Given the description of an element on the screen output the (x, y) to click on. 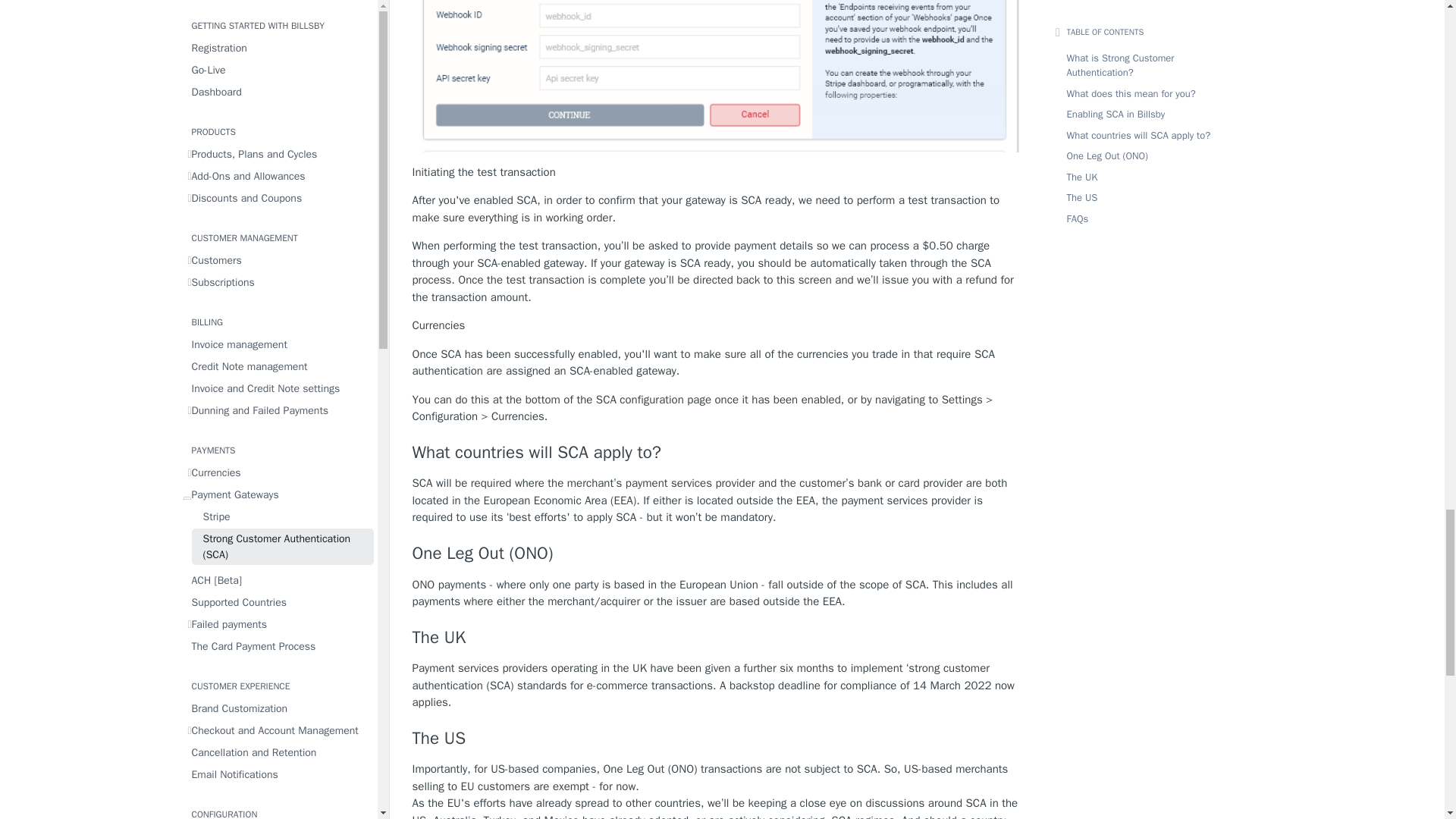
The US (715, 738)
The UK (715, 637)
909190e-e57deb3-Capture1.PNG (715, 76)
What countries will SCA apply to? (715, 452)
